Given the description of an element on the screen output the (x, y) to click on. 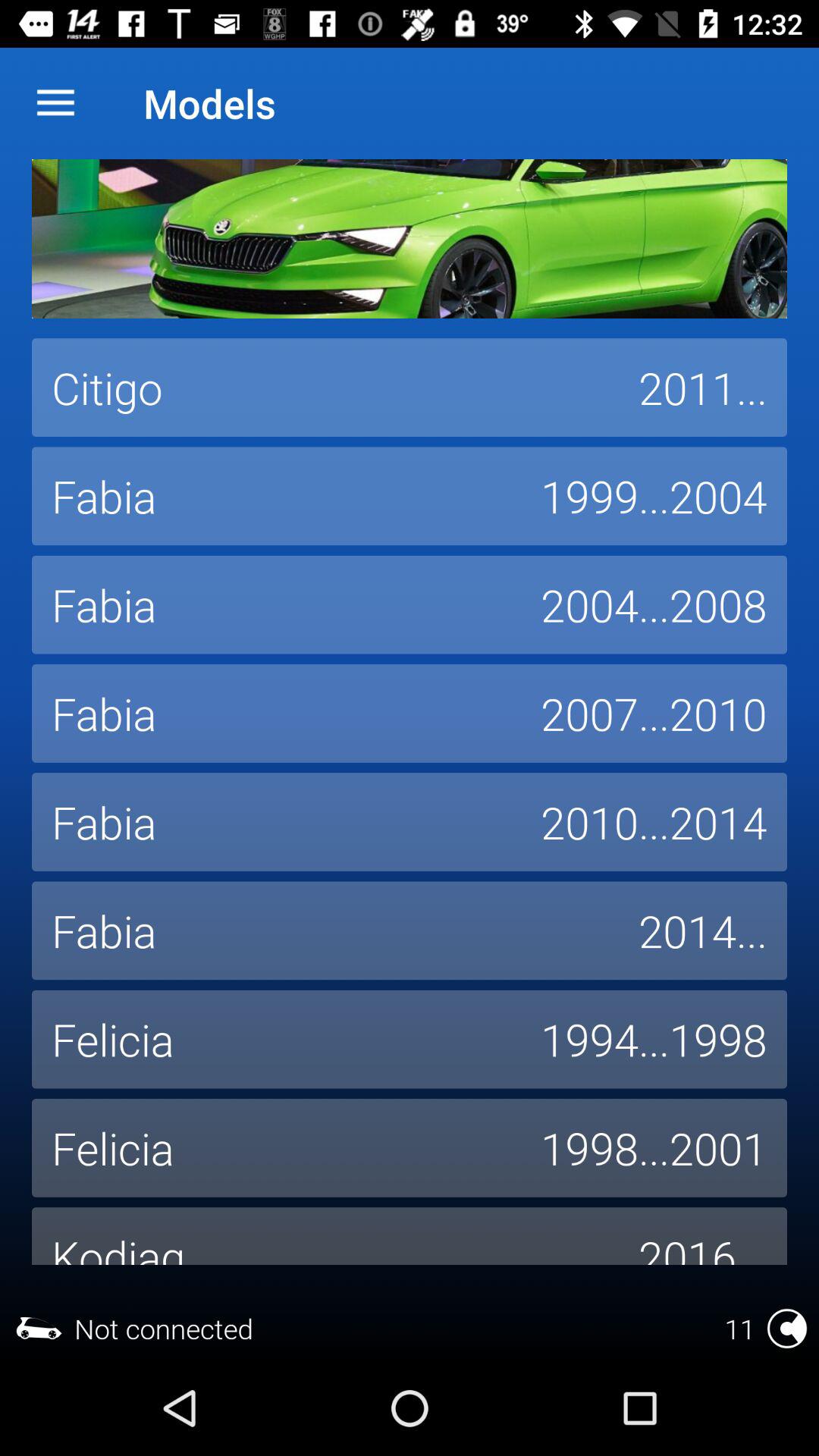
click the item below the 2010...2014 item (702, 930)
